Given the description of an element on the screen output the (x, y) to click on. 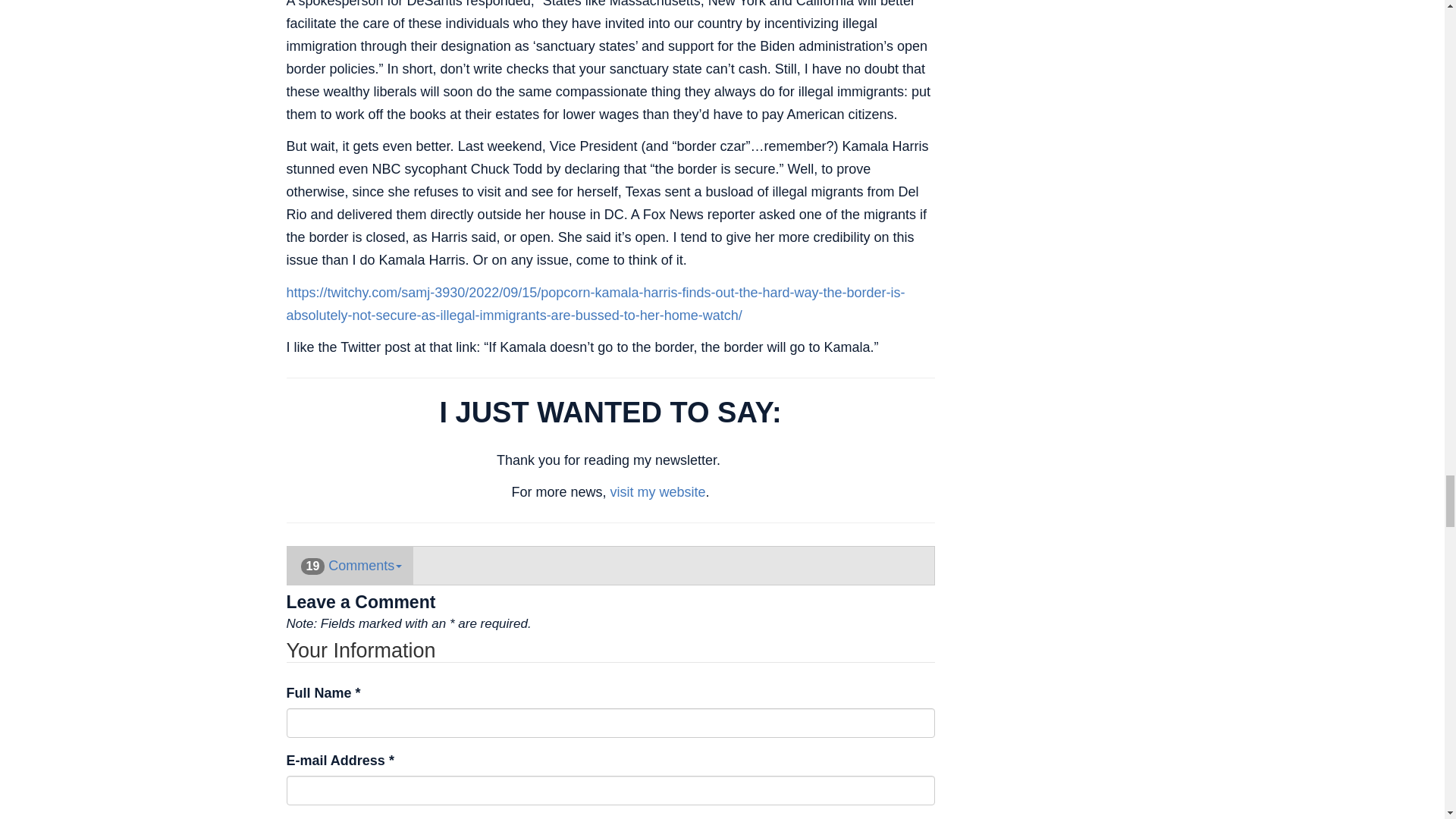
visit my website (657, 491)
19 Comments (349, 565)
